Given the description of an element on the screen output the (x, y) to click on. 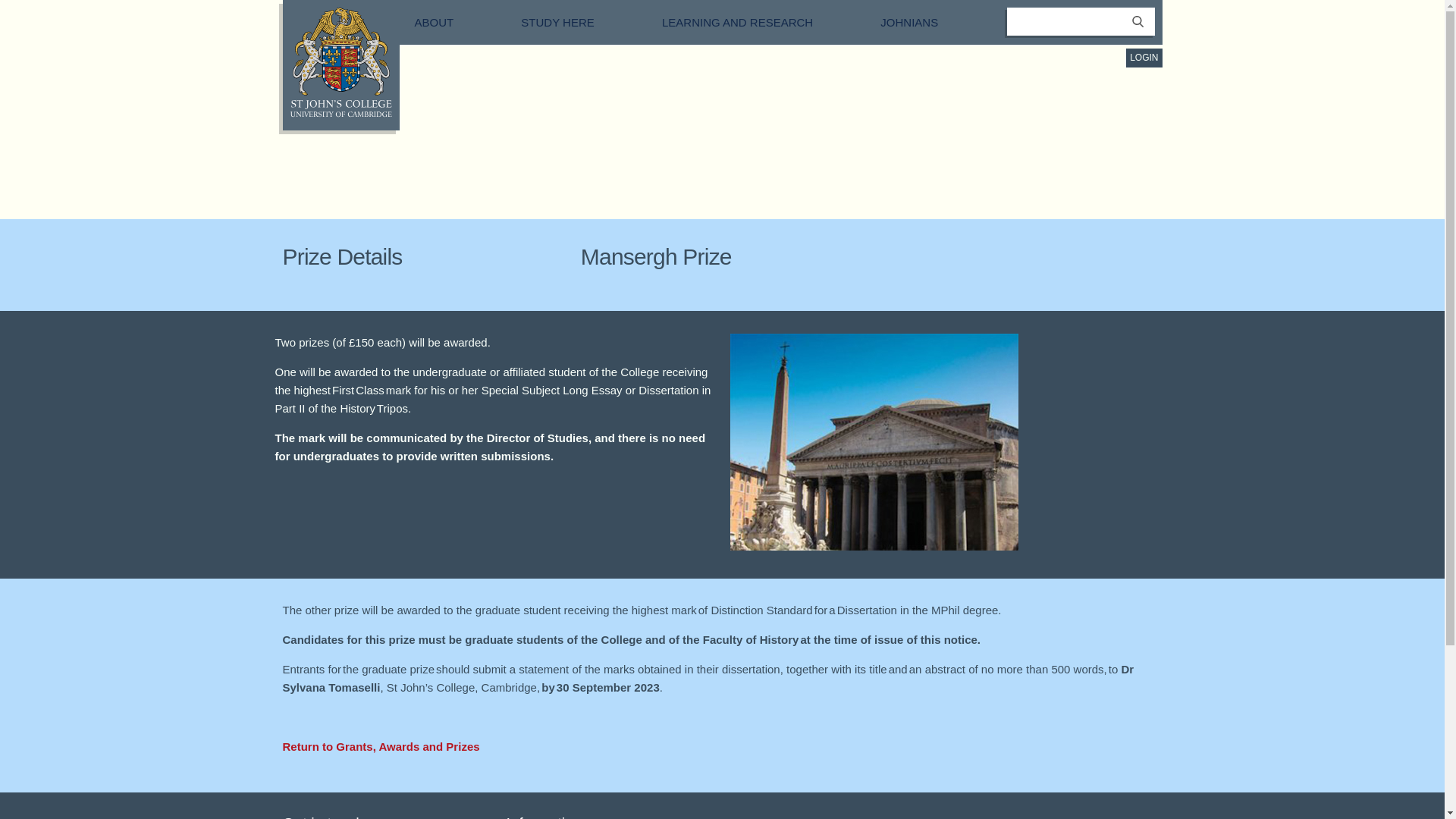
ABOUT (450, 22)
Search (1137, 30)
Study here (574, 22)
Enter the terms you wish to search for. (1080, 21)
LEARNING AND RESEARCH (753, 22)
home (340, 113)
STUDY HERE (574, 22)
About St John's (450, 22)
JOHNIANS (925, 22)
